Given the description of an element on the screen output the (x, y) to click on. 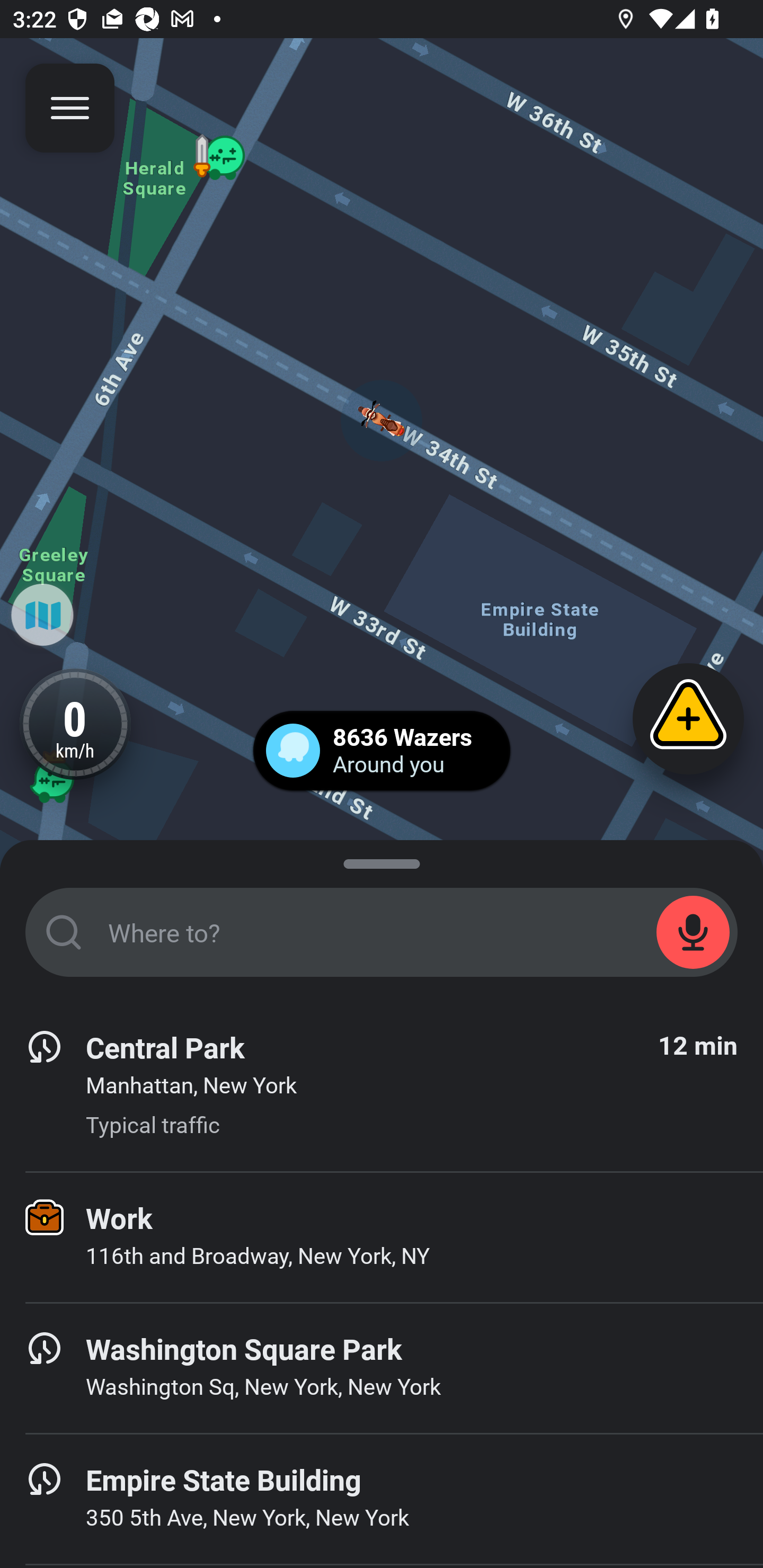
SUGGESTIONS_SHEET_DRAG_HANDLE (381, 860)
START_STATE_SEARCH_FIELD Where to? (381, 931)
Work 116th and Broadway, New York, NY (381, 1236)
